Given the description of an element on the screen output the (x, y) to click on. 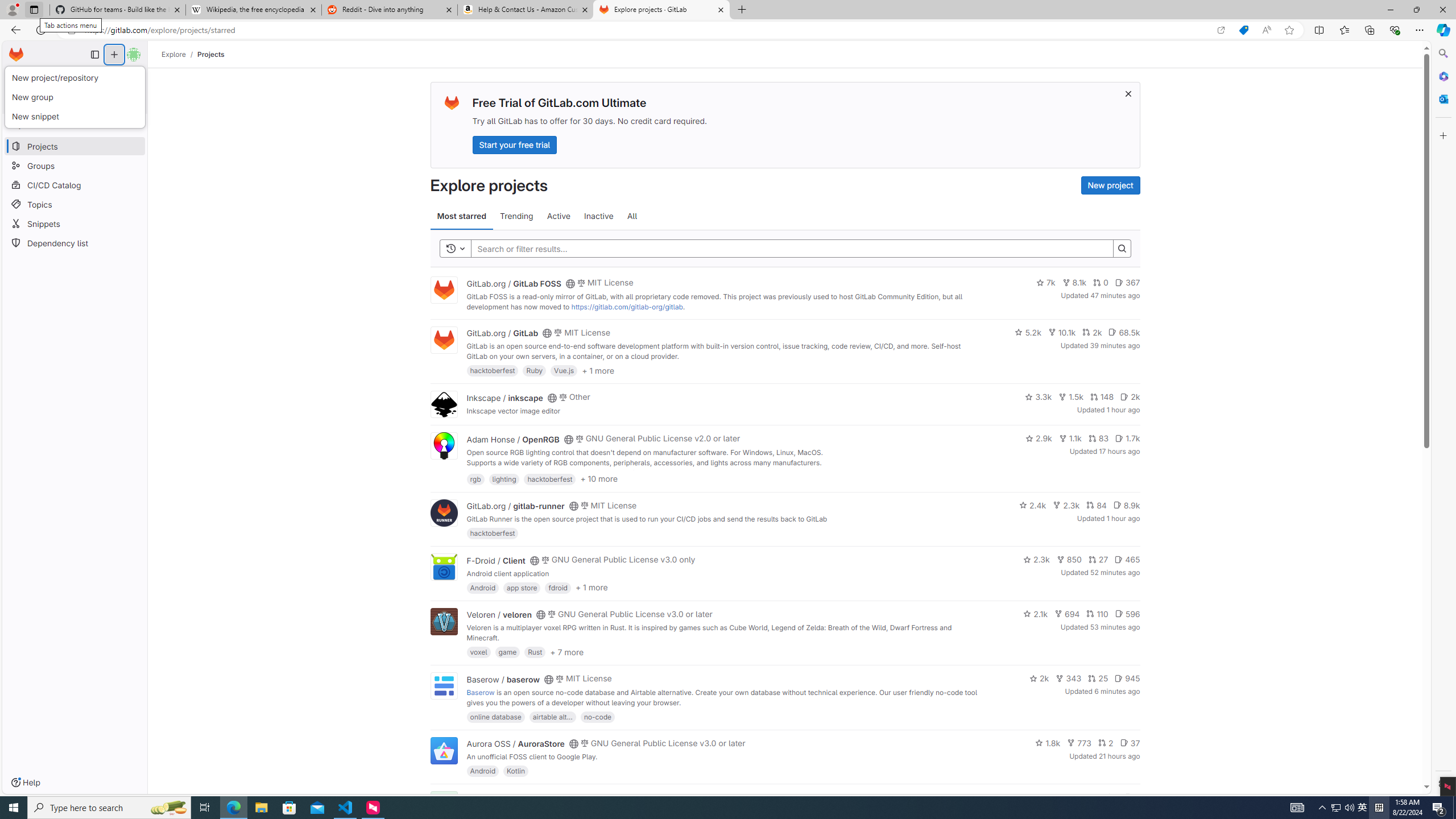
1.4k (1054, 797)
no-code (597, 715)
Projects (211, 53)
Trending (516, 216)
All (632, 216)
Projects (211, 53)
7k (1045, 282)
465 (1127, 559)
Adam Honse / OpenRGB (512, 438)
2 (1105, 742)
1.1k (1069, 438)
Veloren / veloren (498, 614)
